Given the description of an element on the screen output the (x, y) to click on. 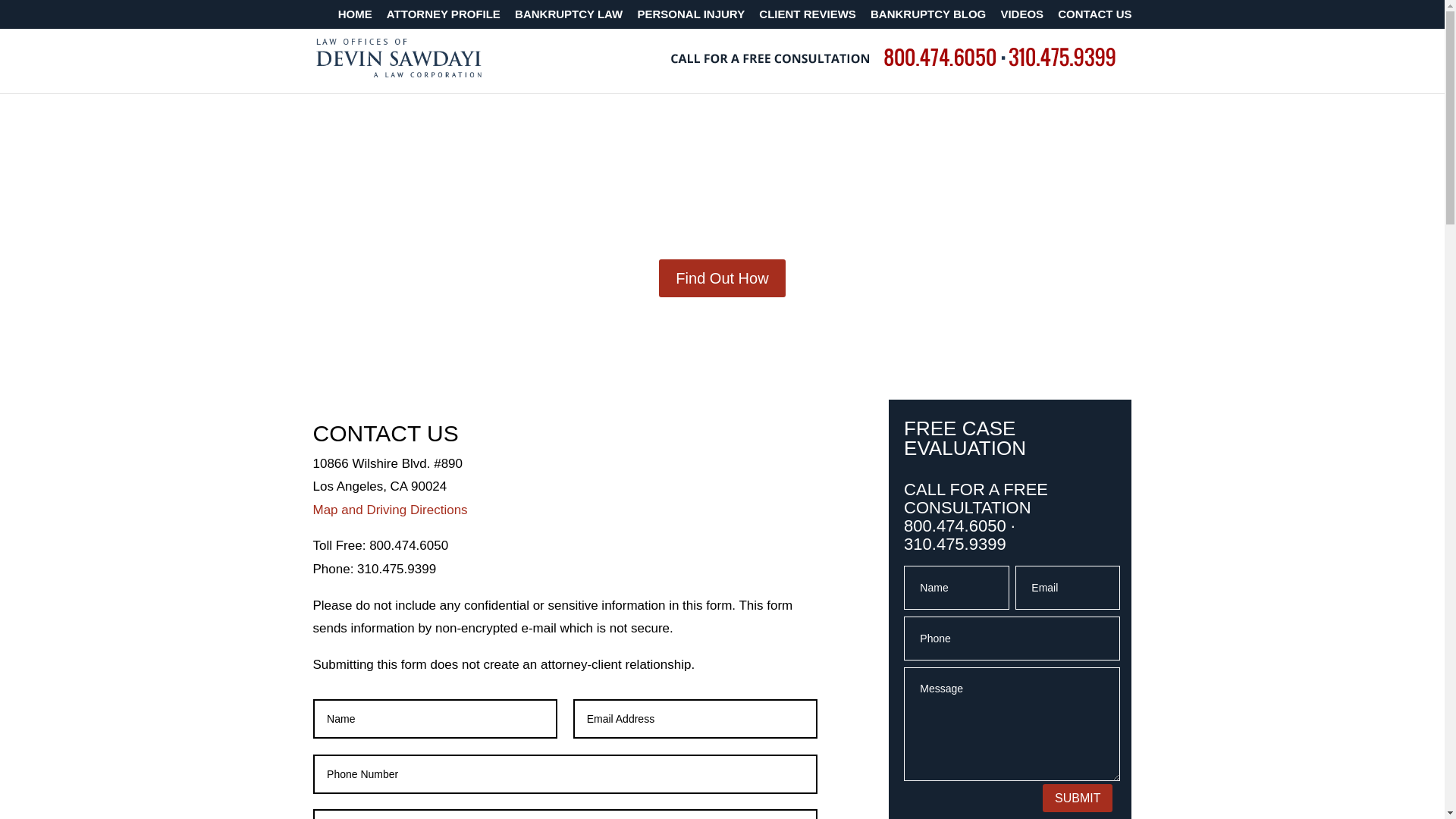
Find Out How (721, 278)
BANKRUPTCY BLOG (927, 17)
CLIENT REVIEWS (807, 17)
CONTACT US (1094, 17)
Map and Driving Directions (390, 509)
BANKRUPTCY LAW (569, 17)
HOME (354, 17)
PERSONAL INJURY (690, 17)
VIDEOS (1021, 17)
CONTACT US (564, 437)
ATTORNEY PROFILE (443, 17)
